Given the description of an element on the screen output the (x, y) to click on. 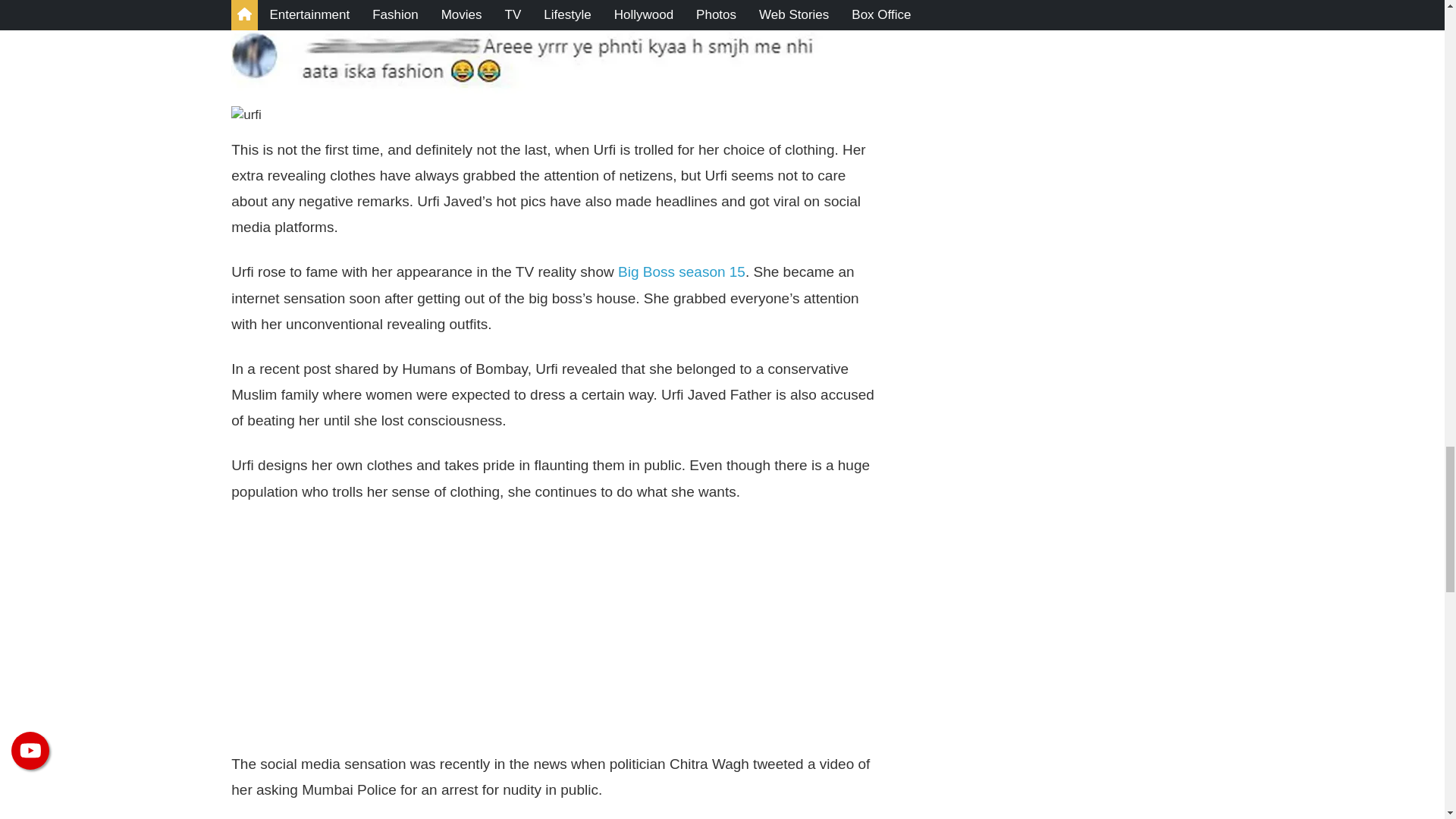
Big Boss season 15 (681, 271)
